Given the description of an element on the screen output the (x, y) to click on. 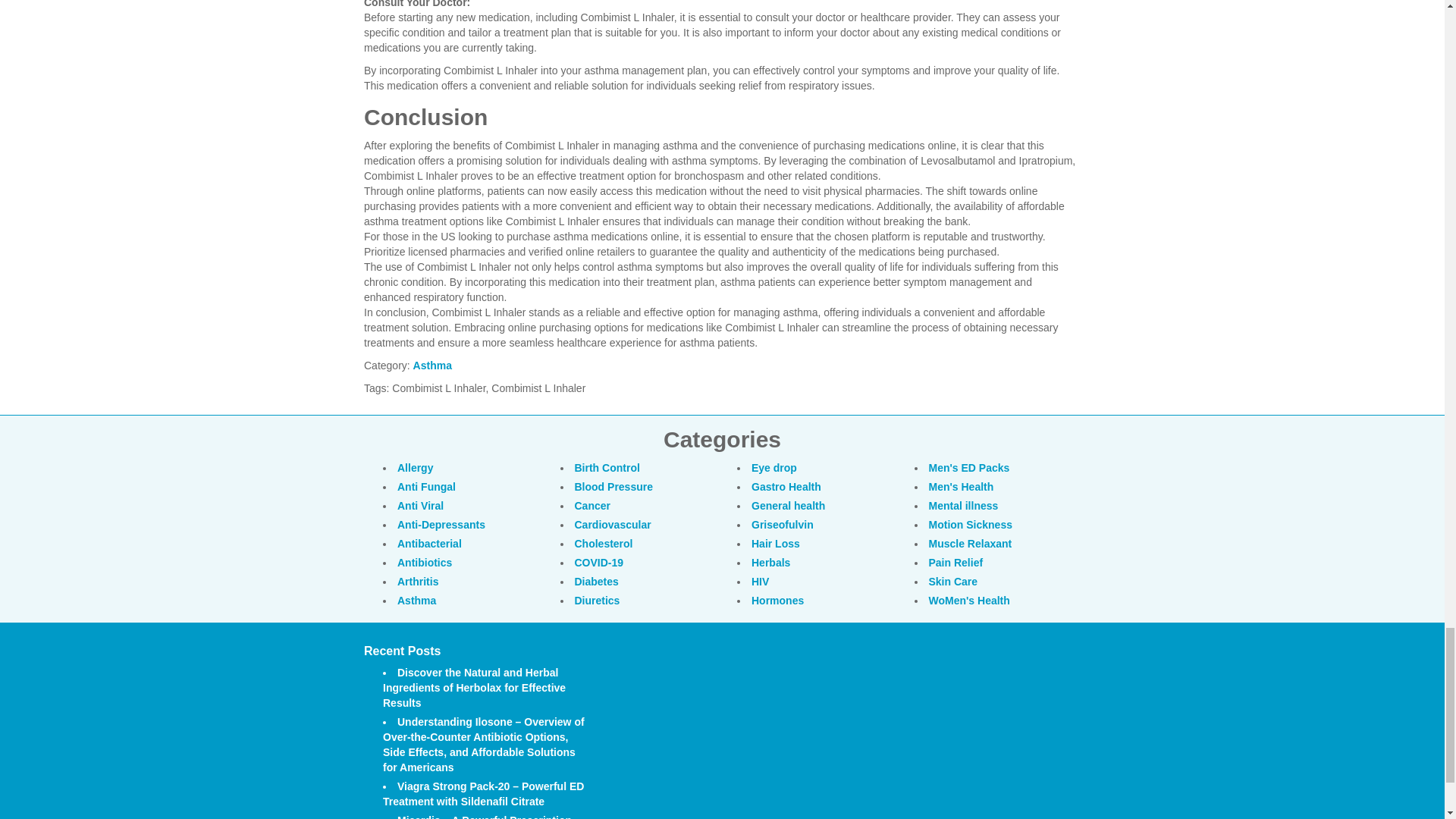
Arthritis (417, 581)
Anti Viral (420, 505)
Anti Fungal (426, 486)
Anti-Depressants (440, 524)
Birth Control (607, 467)
Allergy (414, 467)
Asthma (432, 365)
Cardiovascular (612, 524)
Antibacterial (429, 543)
Cancer (592, 505)
Asthma (416, 600)
COVID-19 (599, 562)
Diabetes (596, 581)
Cholesterol (604, 543)
Blood Pressure (613, 486)
